Given the description of an element on the screen output the (x, y) to click on. 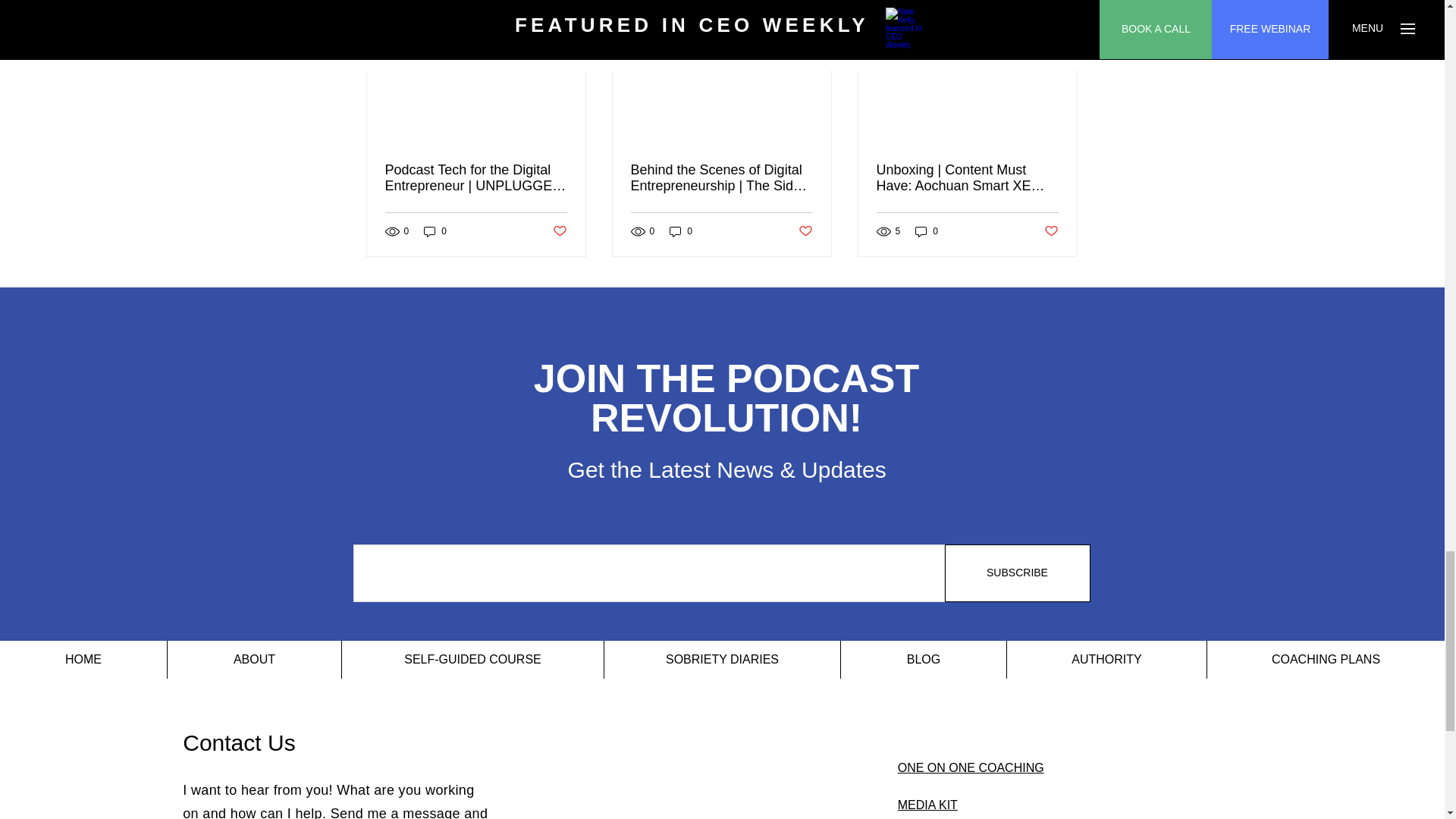
0 (435, 231)
See All (1061, 2)
Post not marked as liked (558, 231)
